Given the description of an element on the screen output the (x, y) to click on. 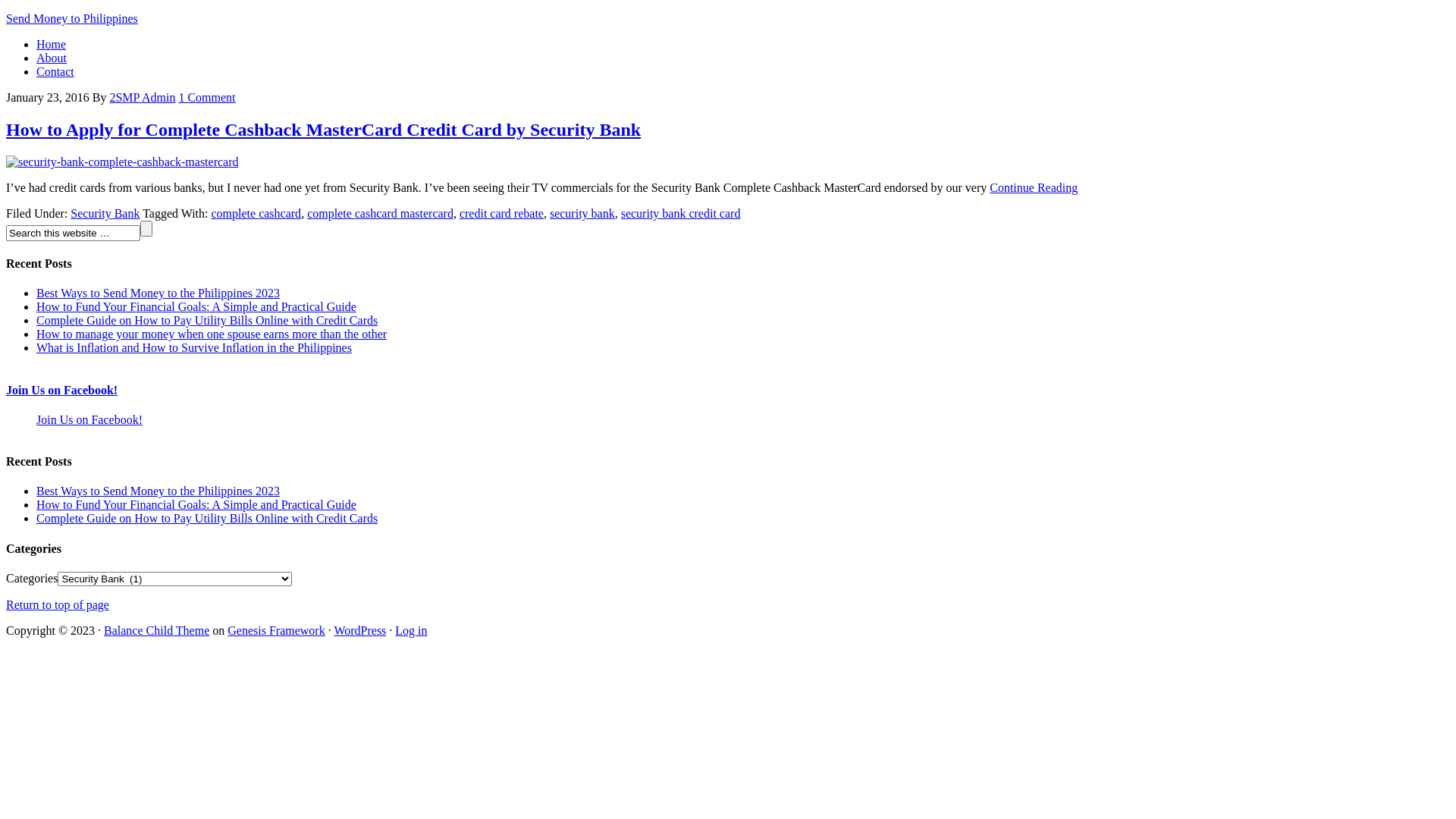
2SMP Admin Element type: text (142, 97)
Genesis Framework Element type: text (275, 630)
security bank Element type: text (582, 213)
complete cashcard mastercard Element type: text (380, 213)
Join Us on Facebook! Element type: text (89, 419)
security bank credit card Element type: text (680, 213)
complete cashcard Element type: text (256, 213)
1 Comment Element type: text (206, 97)
Send Money to Philippines Element type: text (72, 18)
Home Element type: text (50, 43)
Log in Element type: text (410, 630)
Join Us on Facebook! Element type: text (61, 389)
credit card rebate Element type: text (501, 213)
Return to top of page Element type: text (57, 604)
Continue Reading Element type: text (1033, 187)
Best Ways to Send Money to the Philippines 2023 Element type: text (157, 490)
Balance Child Theme Element type: text (156, 630)
About Element type: text (51, 57)
WordPress Element type: text (359, 630)
Contact Element type: text (55, 71)
Best Ways to Send Money to the Philippines 2023 Element type: text (157, 292)
Security Bank Element type: text (104, 213)
